Given the description of an element on the screen output the (x, y) to click on. 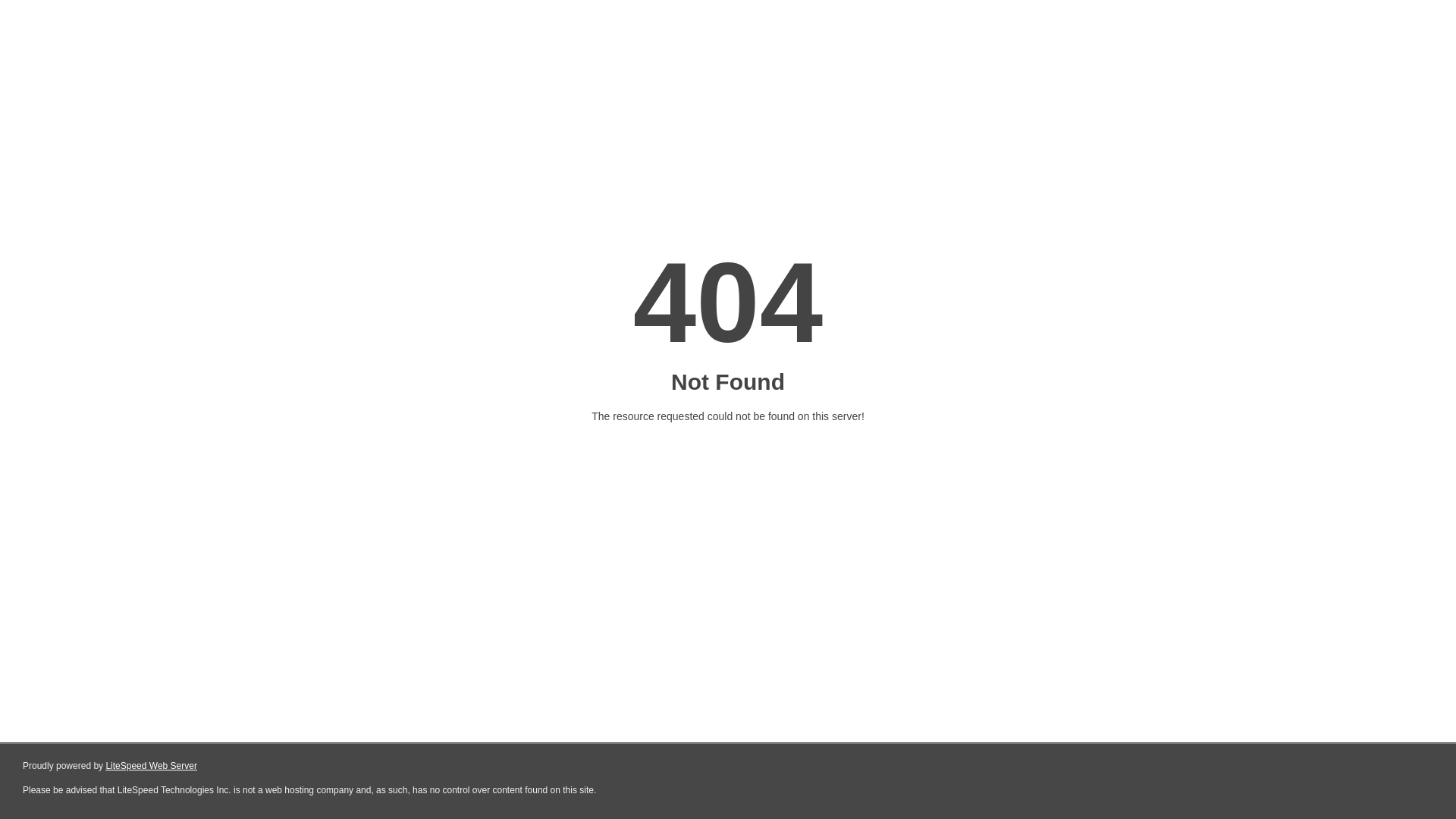
LiteSpeed Web Server Element type: text (151, 765)
